Given the description of an element on the screen output the (x, y) to click on. 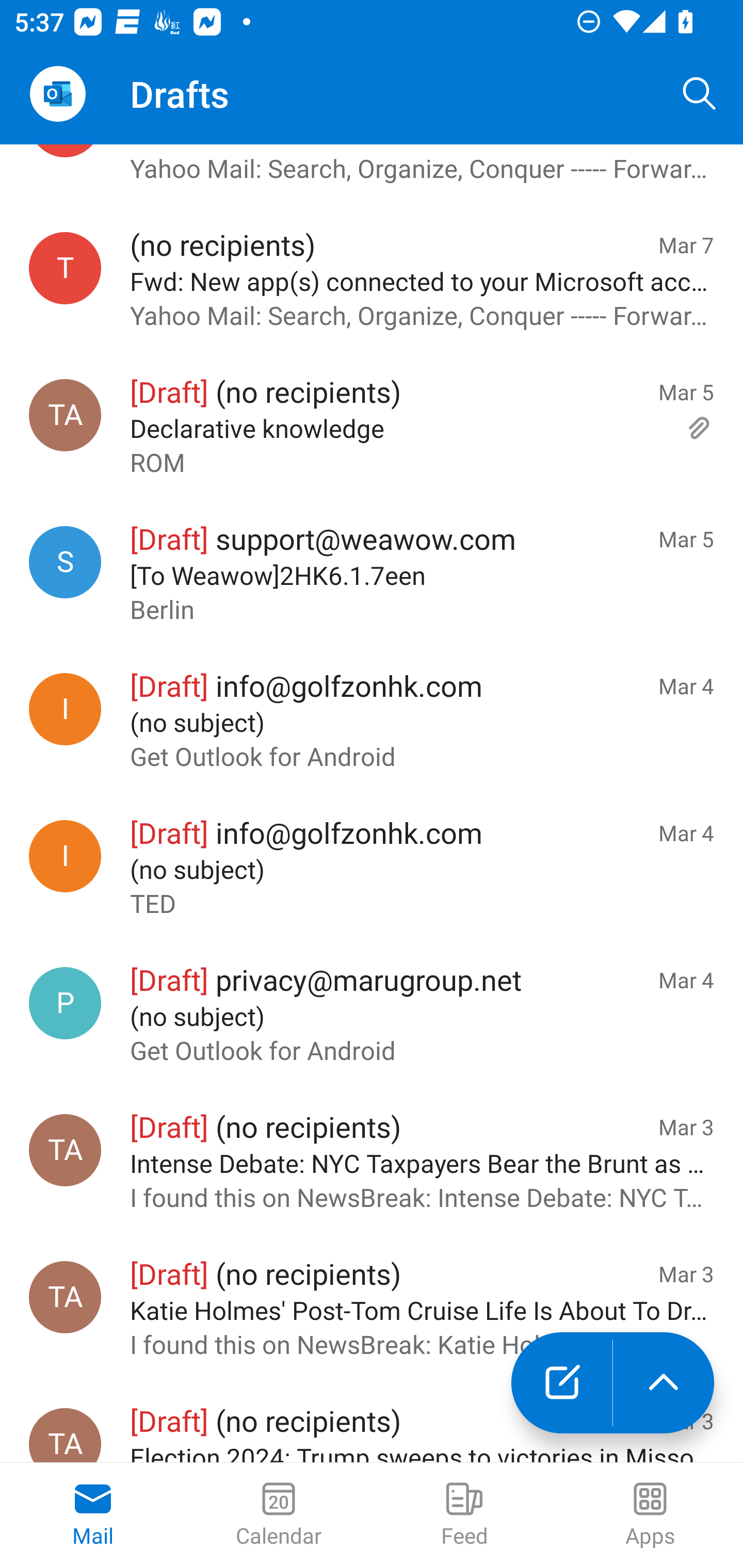
Search, ,  (699, 93)
Open Navigation Drawer (57, 94)
testappium002@outlook.com (64, 268)
Test Appium, testappium002@outlook.com (64, 415)
support@weawow.com (64, 562)
info@golfzonhk.com (64, 708)
info@golfzonhk.com (64, 856)
privacy@marugroup.net (64, 1003)
Test Appium, testappium002@outlook.com (64, 1150)
Test Appium, testappium002@outlook.com (64, 1296)
New mail (561, 1382)
launch the extended action menu (663, 1382)
Test Appium, testappium002@outlook.com (64, 1435)
Calendar (278, 1515)
Feed (464, 1515)
Apps (650, 1515)
